Given the description of an element on the screen output the (x, y) to click on. 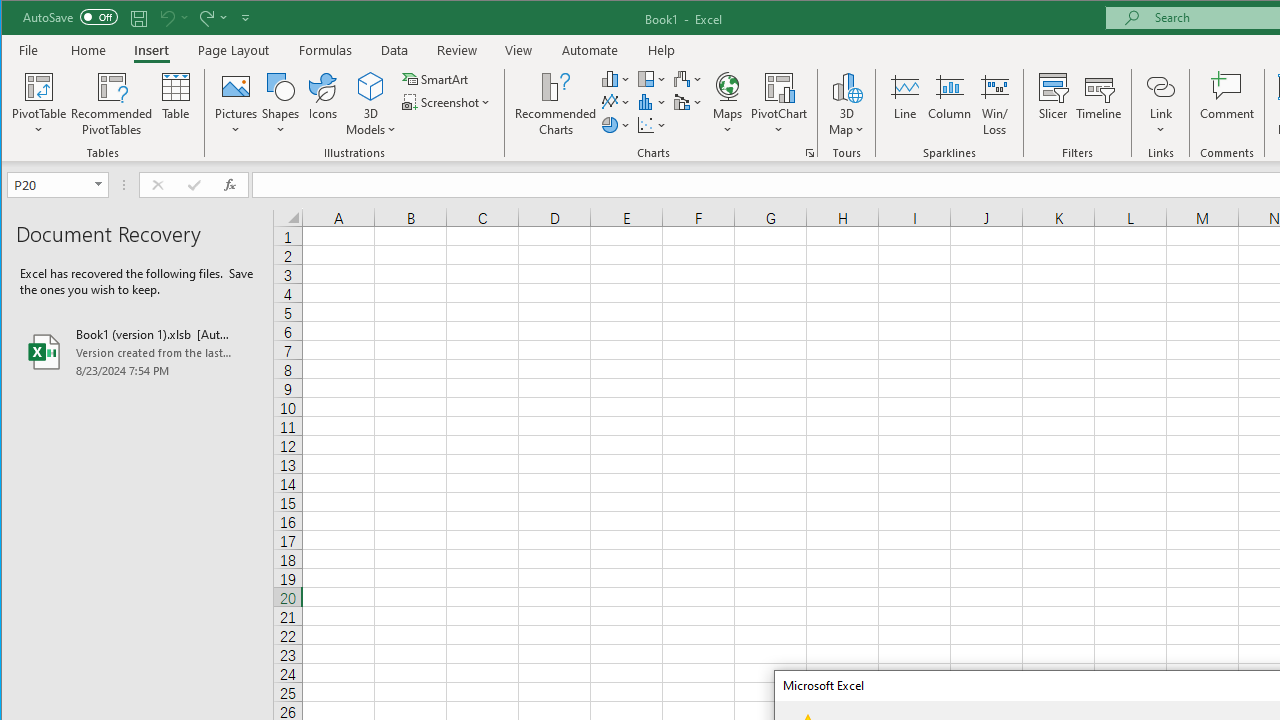
Slicer... (1052, 104)
Insert Scatter (X, Y) or Bubble Chart (652, 124)
PivotTable (39, 86)
Maps (727, 104)
Recommended Charts (809, 152)
SmartArt... (436, 78)
PivotChart (779, 104)
Insert Waterfall, Funnel, Stock, Surface, or Radar Chart (688, 78)
